Given the description of an element on the screen output the (x, y) to click on. 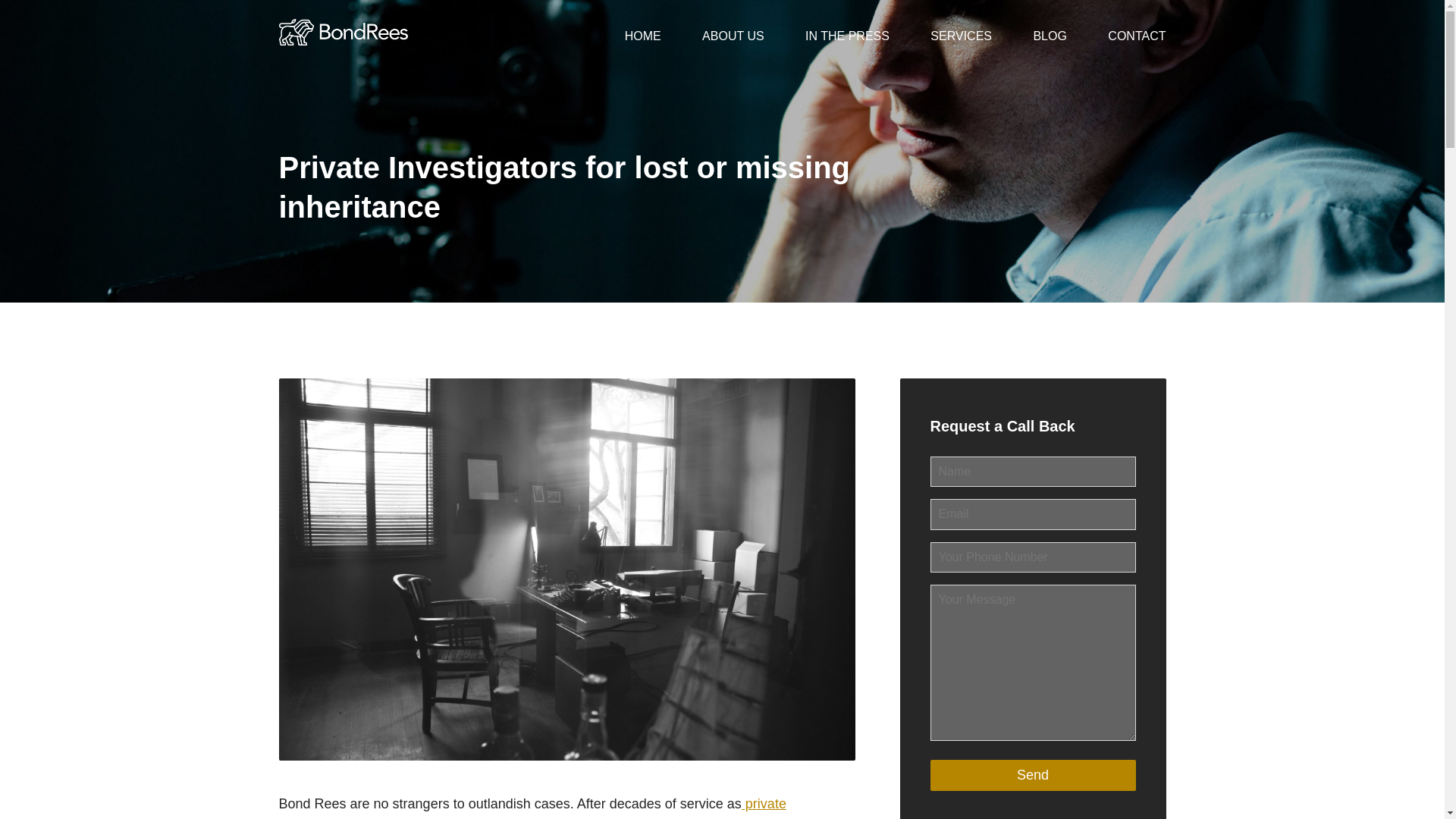
HOME (642, 35)
CONTACT (1137, 35)
ABOUT US (732, 35)
Bond Rees Investigations (343, 21)
private investigators (532, 807)
Send (1032, 775)
SERVICES (960, 35)
Send (1032, 775)
BLOG (1048, 35)
IN THE PRESS (847, 35)
